Given the description of an element on the screen output the (x, y) to click on. 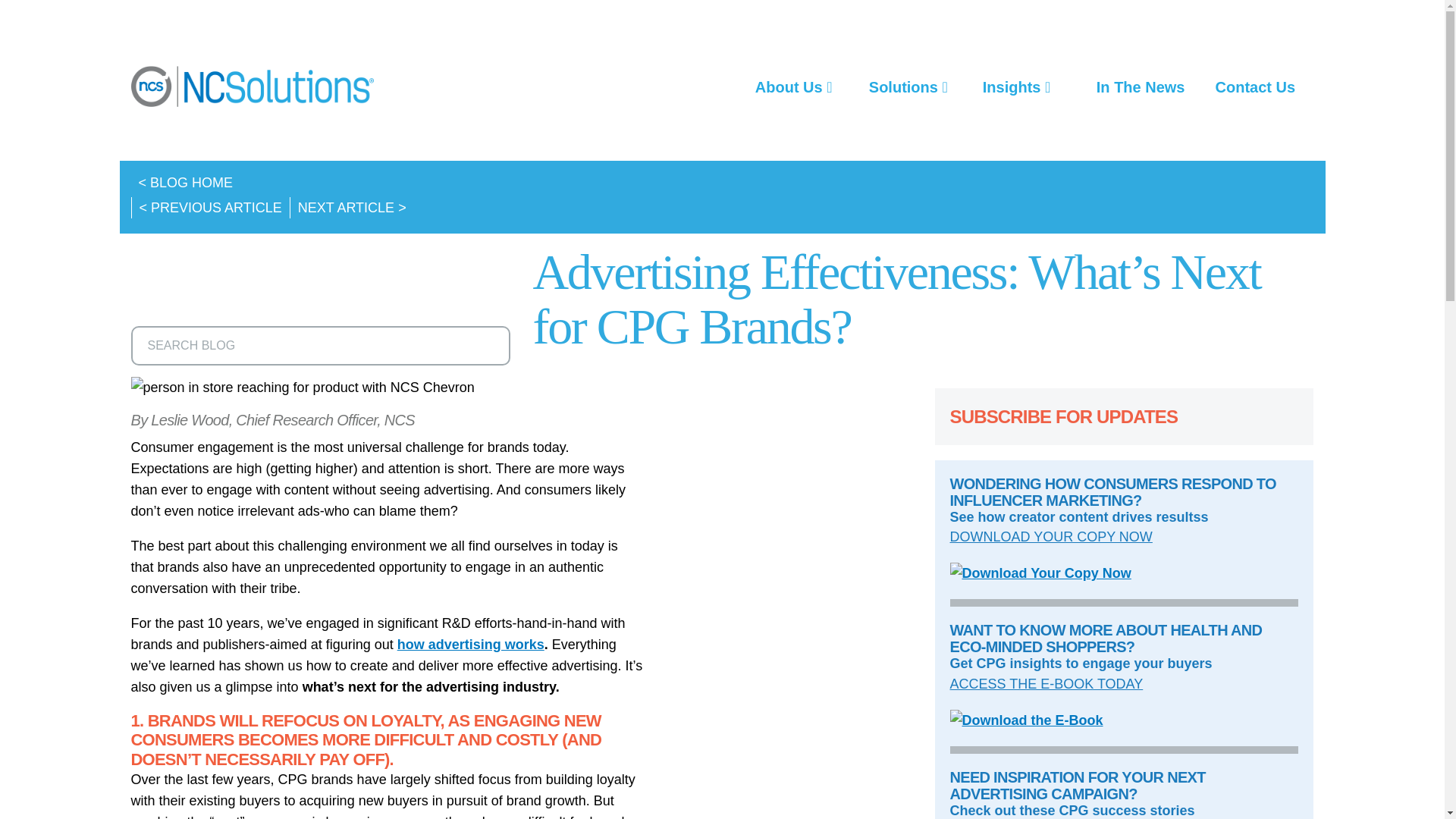
In The News (1140, 86)
Insights (1016, 86)
Contact Us (1254, 86)
About Us (793, 86)
Solutions (907, 86)
